Given the description of an element on the screen output the (x, y) to click on. 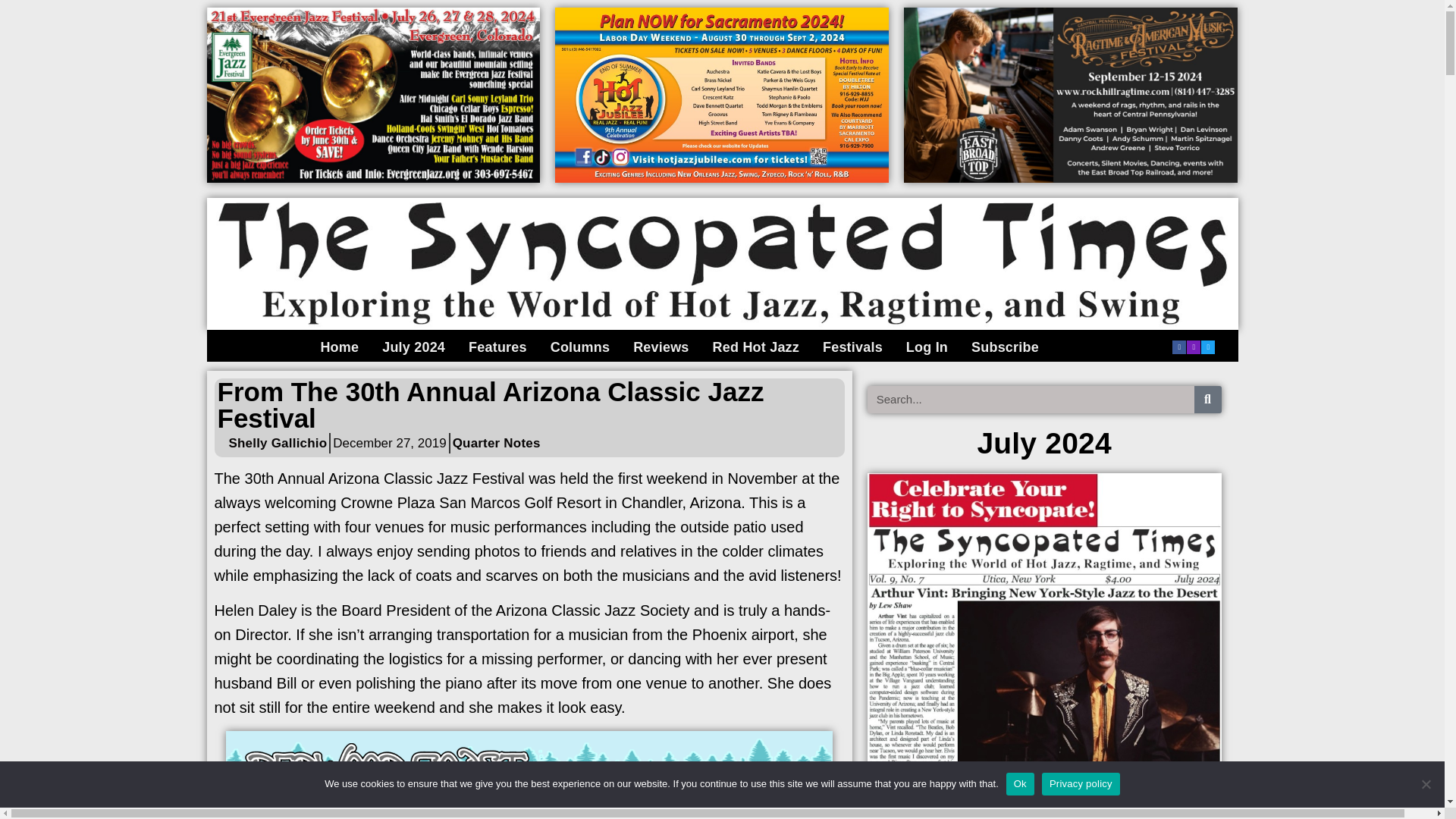
Reviews (660, 347)
Redwood Coast (528, 775)
Columns (579, 347)
July 2024 (413, 347)
Features (497, 347)
No (1425, 783)
Home (338, 347)
